Given the description of an element on the screen output the (x, y) to click on. 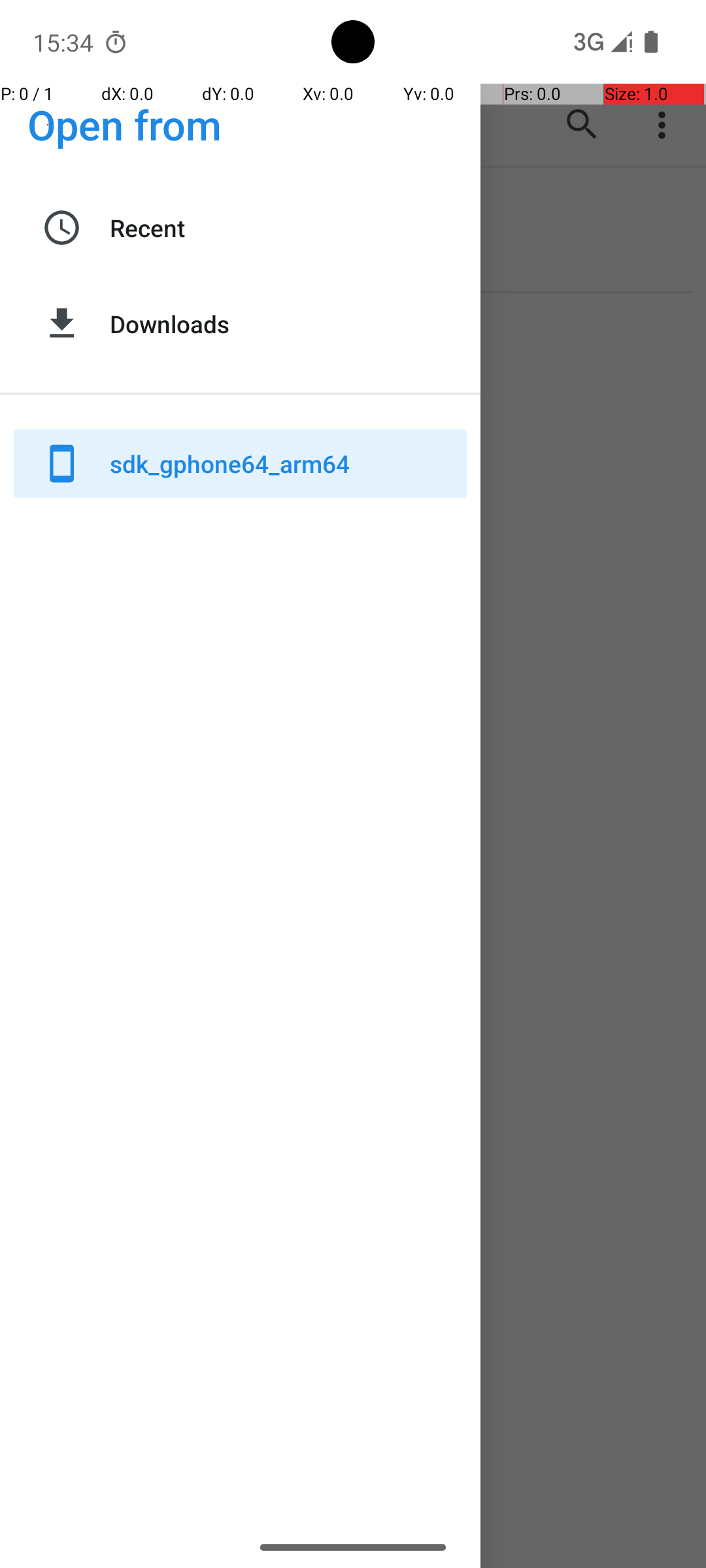
Open from Element type: android.widget.TextView (124, 124)
